Given the description of an element on the screen output the (x, y) to click on. 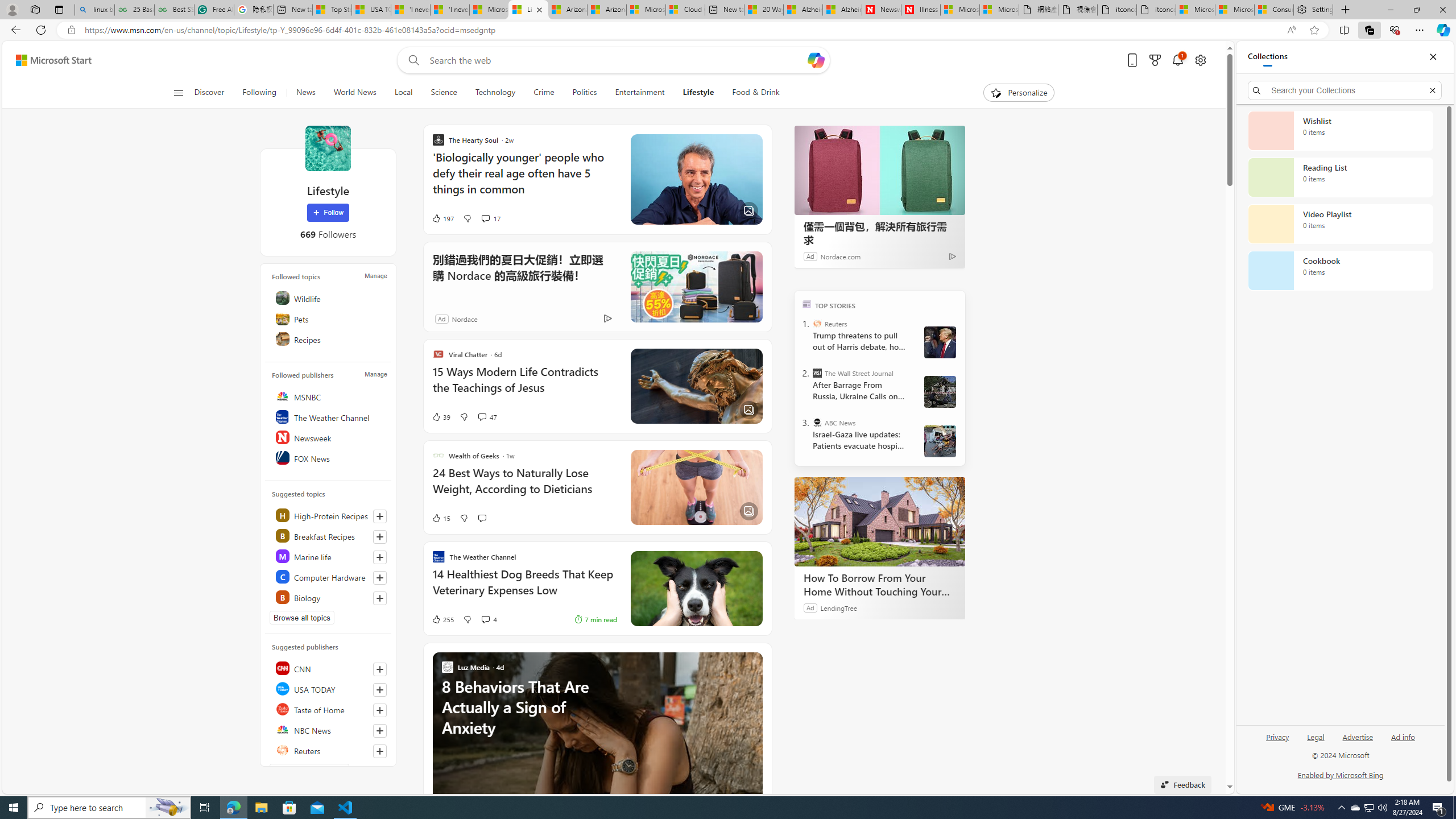
Settings (1313, 9)
Ad (440, 318)
Read aloud this page (Ctrl+Shift+U) (1291, 29)
Close (1432, 56)
World News (355, 92)
itconcepthk.com/projector_solutions.mp4 (1155, 9)
Lifestyle (698, 92)
